Given the description of an element on the screen output the (x, y) to click on. 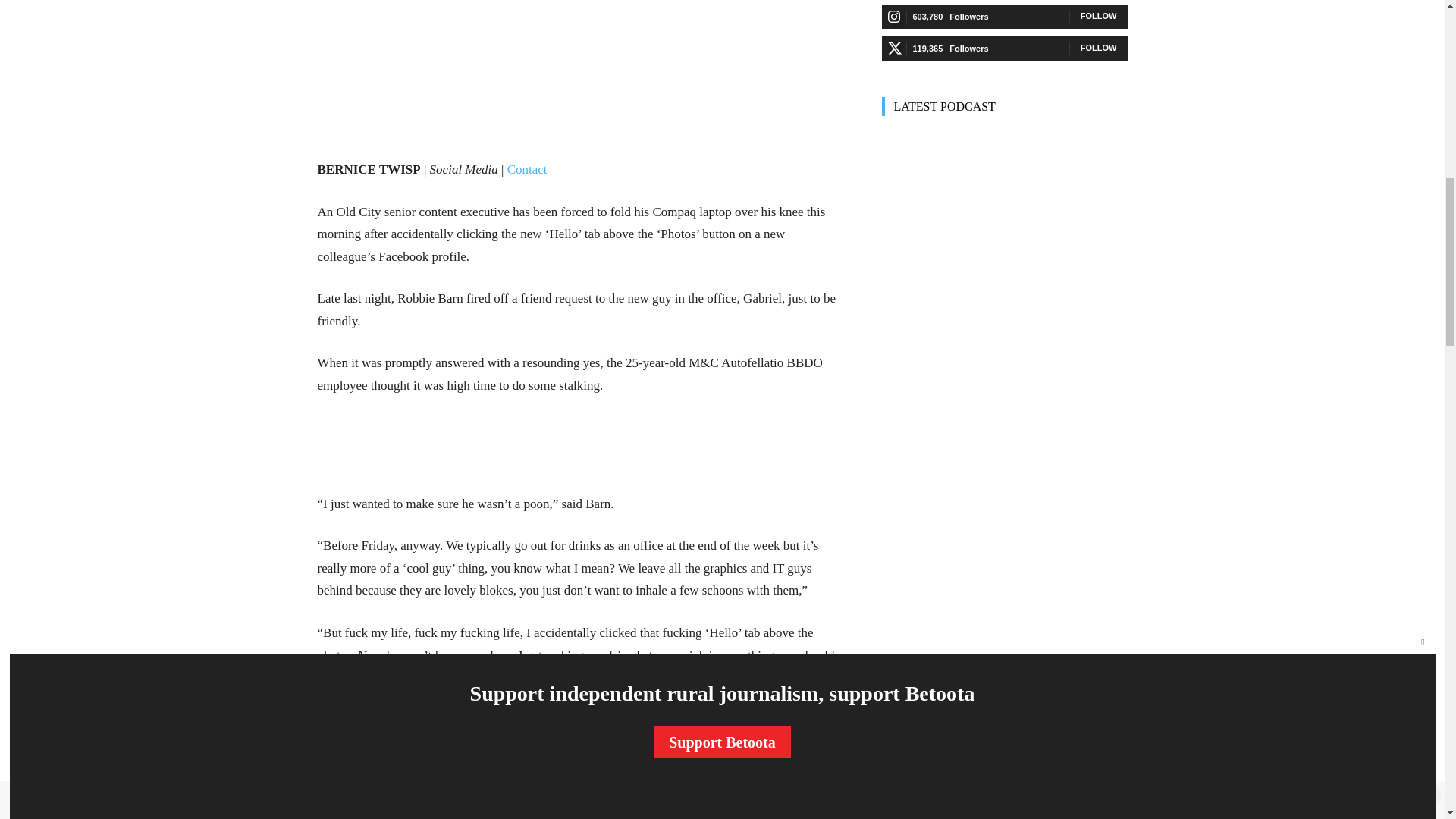
like man (580, 31)
